Given the description of an element on the screen output the (x, y) to click on. 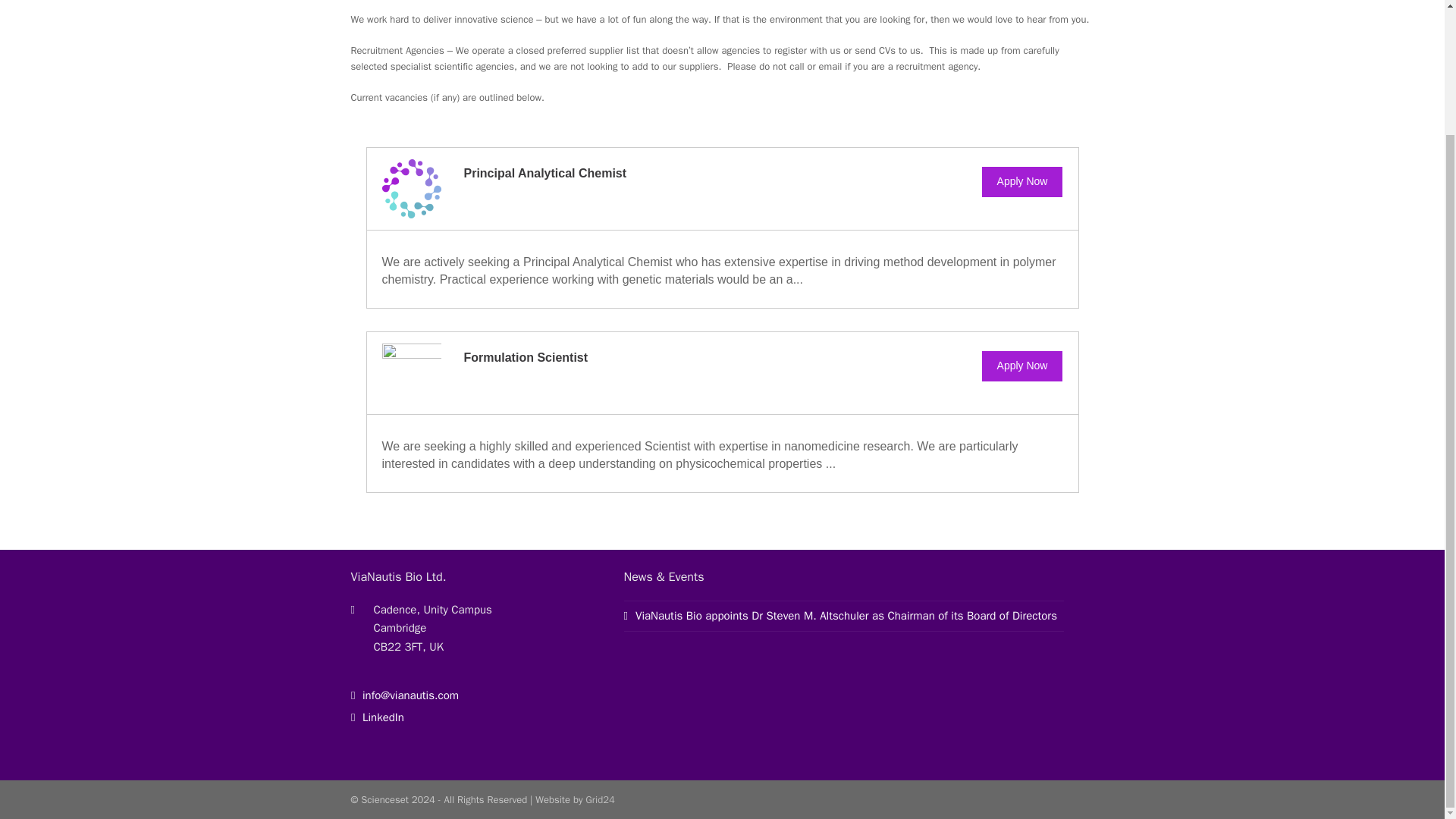
Apply Now (1021, 366)
Grid24 (599, 799)
Formulation Scientist (526, 357)
LinkedIn (376, 716)
Apply Now (1021, 182)
Principal Analytical Chemist (545, 173)
